Given the description of an element on the screen output the (x, y) to click on. 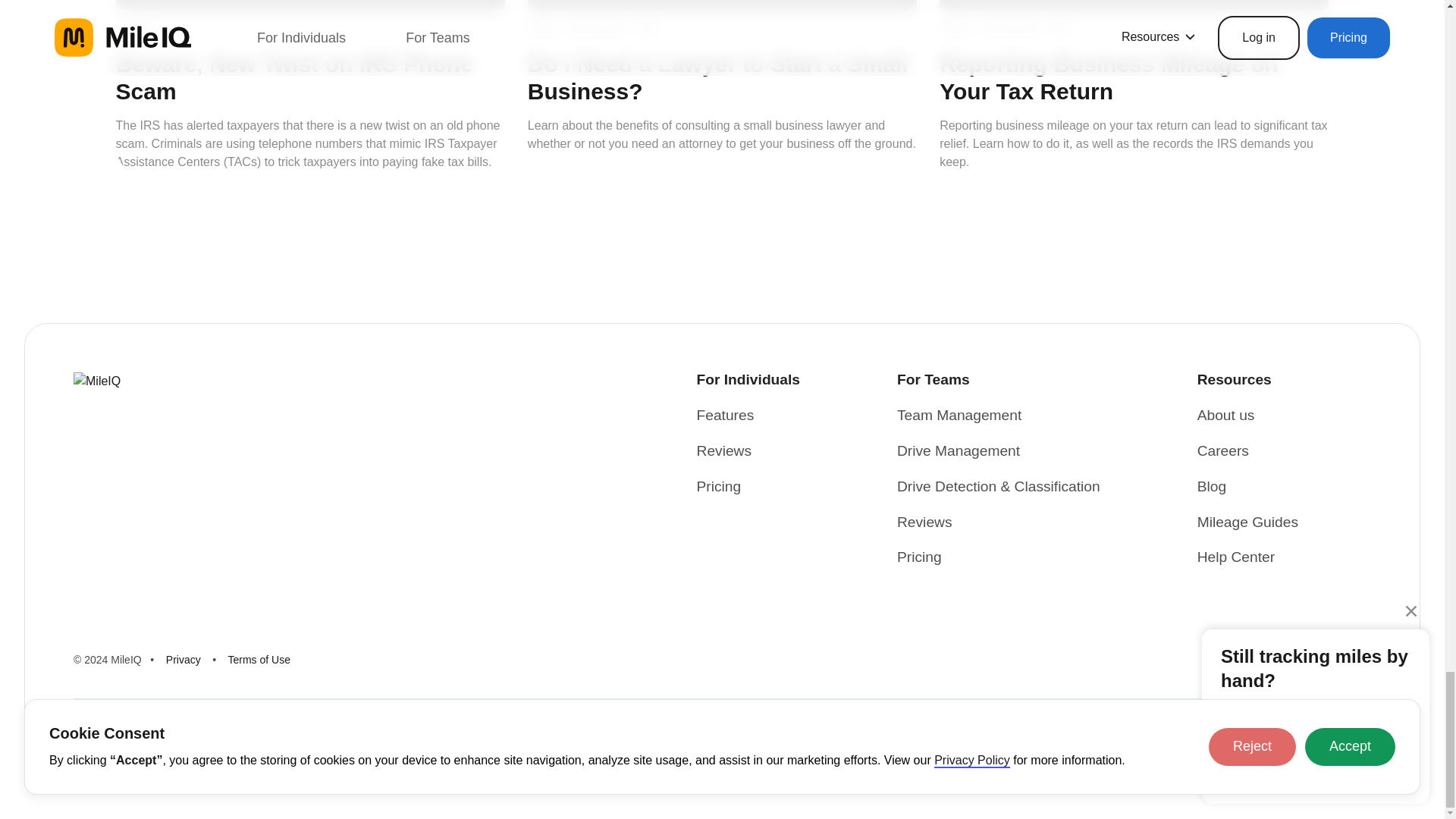
Reviews (724, 451)
Features (725, 415)
